Given the description of an element on the screen output the (x, y) to click on. 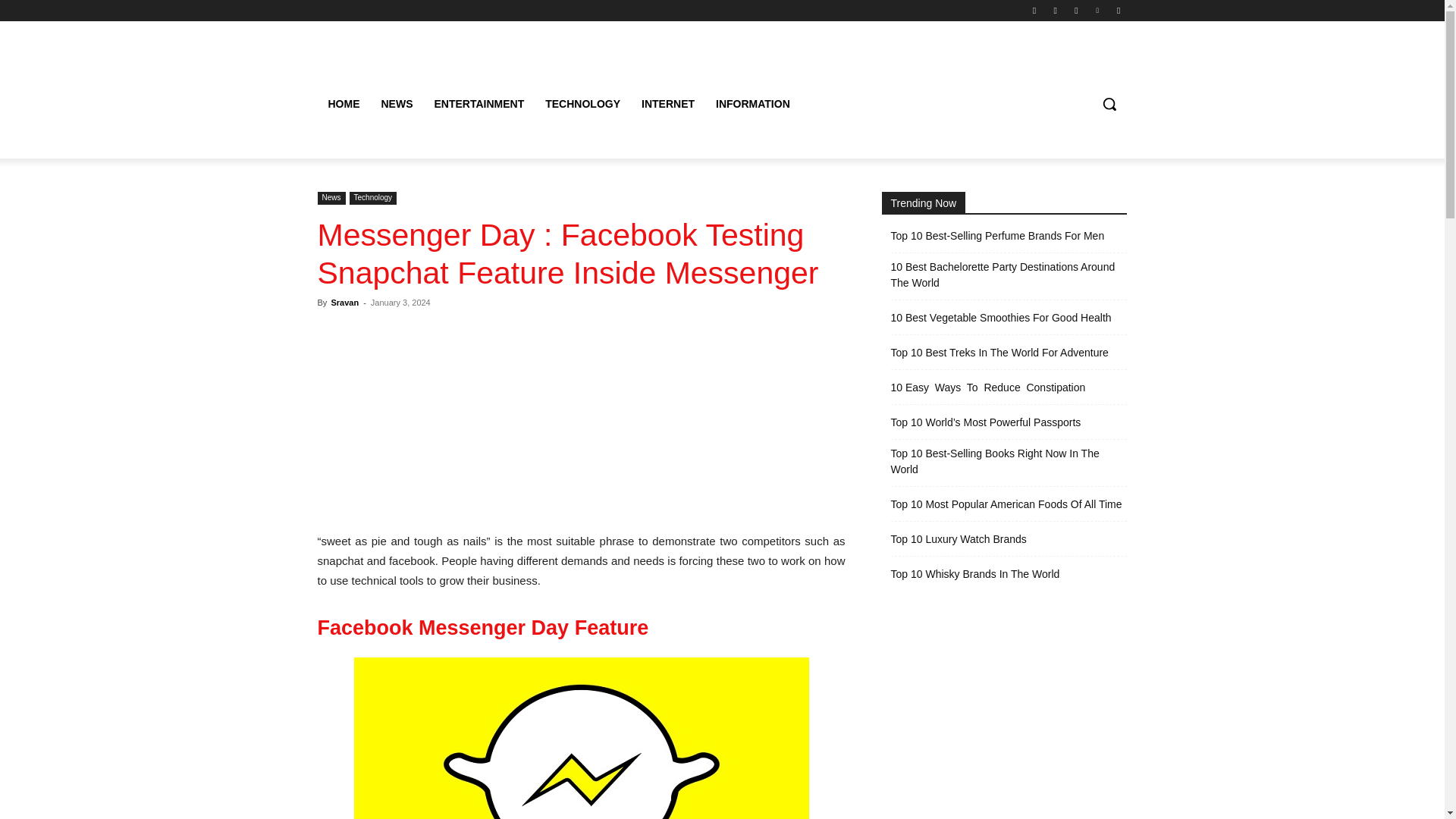
Sravan (344, 302)
INFORMATION (752, 103)
Advertisement (580, 420)
HOME (343, 103)
TECHNOLOGY (582, 103)
NEWS (396, 103)
INTERNET (667, 103)
Vimeo (1097, 9)
Twitter (1075, 9)
Technology (373, 197)
Youtube (1117, 9)
Instagram (1055, 9)
